Given the description of an element on the screen output the (x, y) to click on. 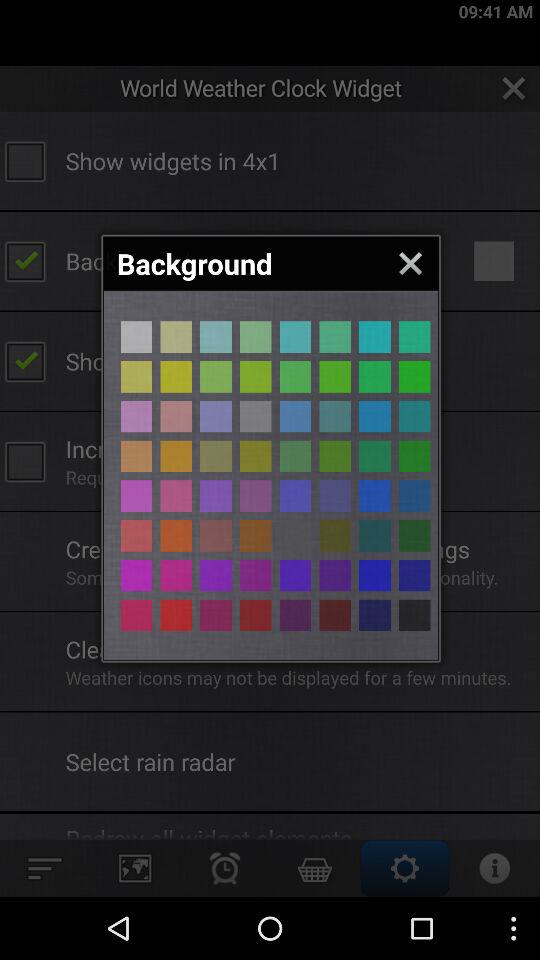
different colour page (136, 535)
